Given the description of an element on the screen output the (x, y) to click on. 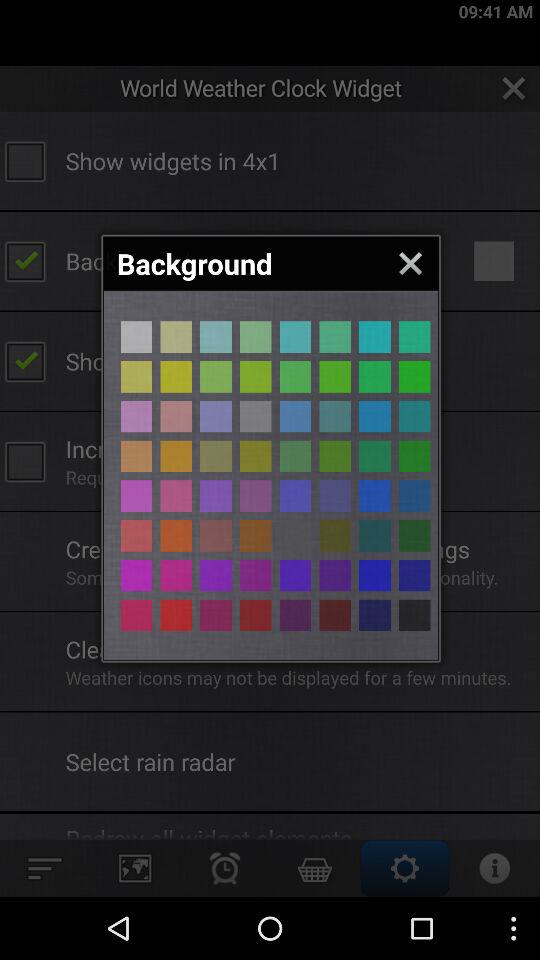
different colour page (136, 535)
